Given the description of an element on the screen output the (x, y) to click on. 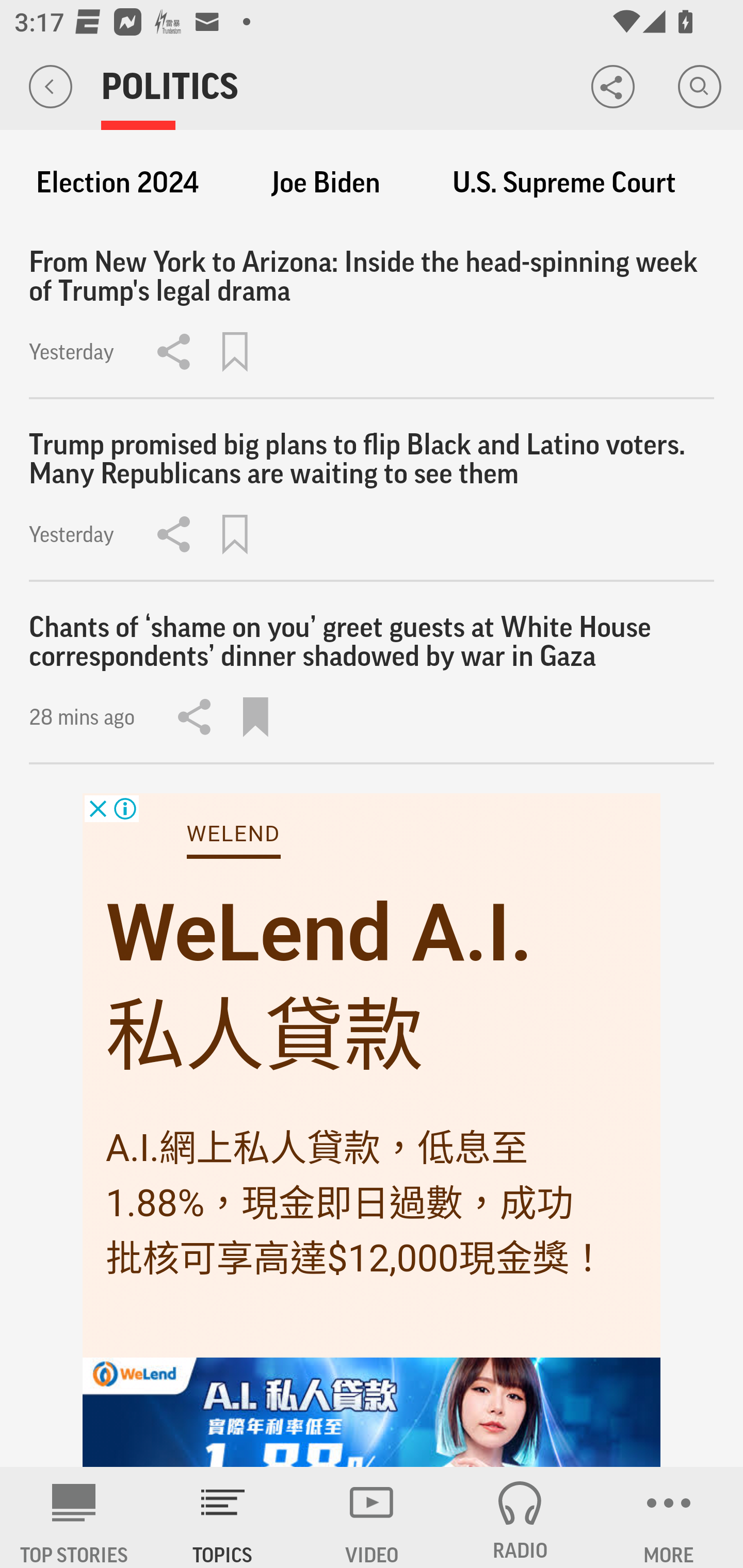
Election 2024 (116, 182)
Joe Biden (325, 182)
U.S. Supreme Court (564, 182)
WELEND (232, 834)
WeLend A.I. 私人貸款 WeLend A.I. 私人貸款 (319, 983)
AP News TOP STORIES (74, 1517)
TOPICS (222, 1517)
VIDEO (371, 1517)
RADIO (519, 1517)
MORE (668, 1517)
